Given the description of an element on the screen output the (x, y) to click on. 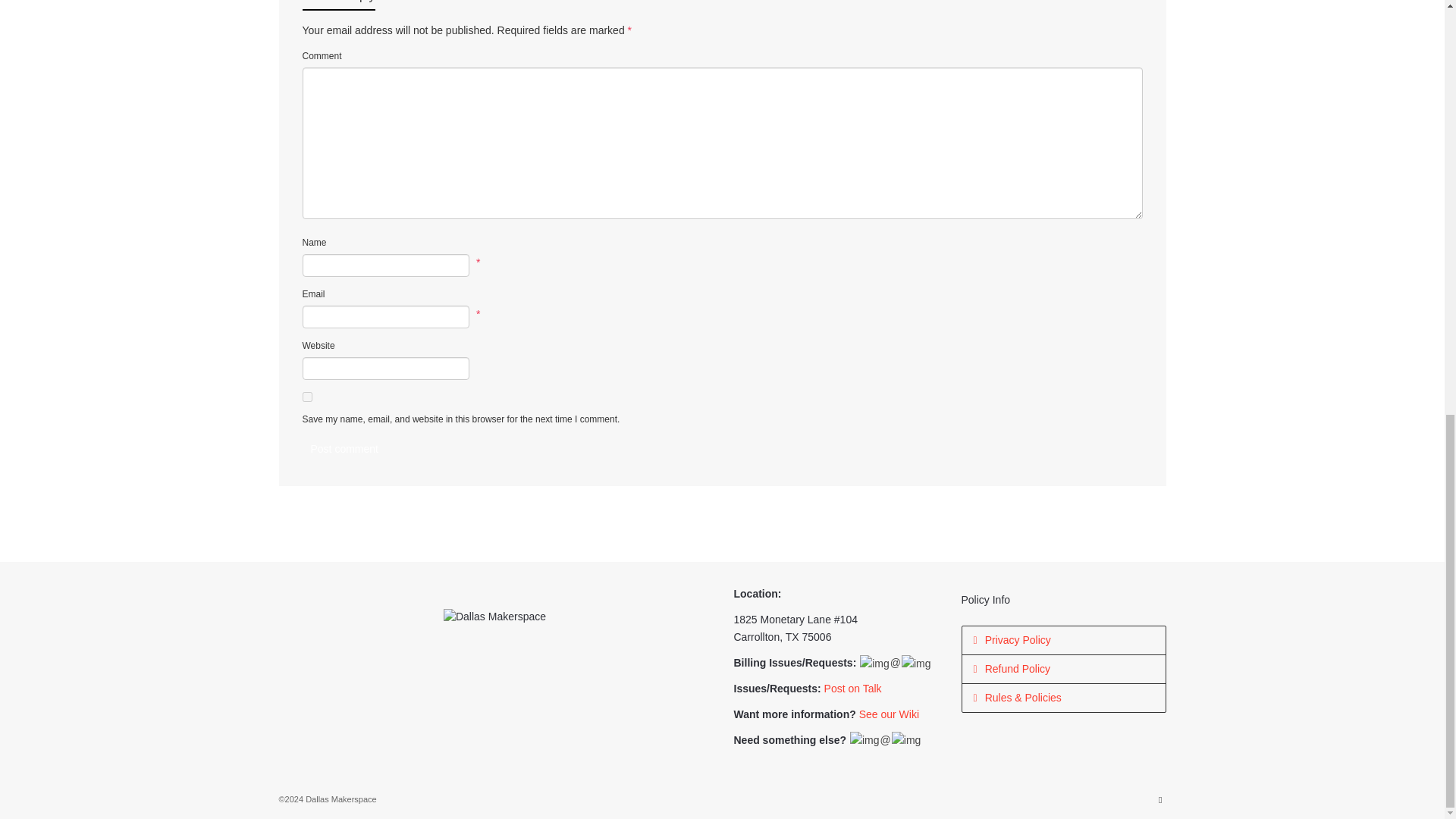
Post comment (343, 448)
yes (306, 397)
Dallas Makerspace (495, 616)
